Given the description of an element on the screen output the (x, y) to click on. 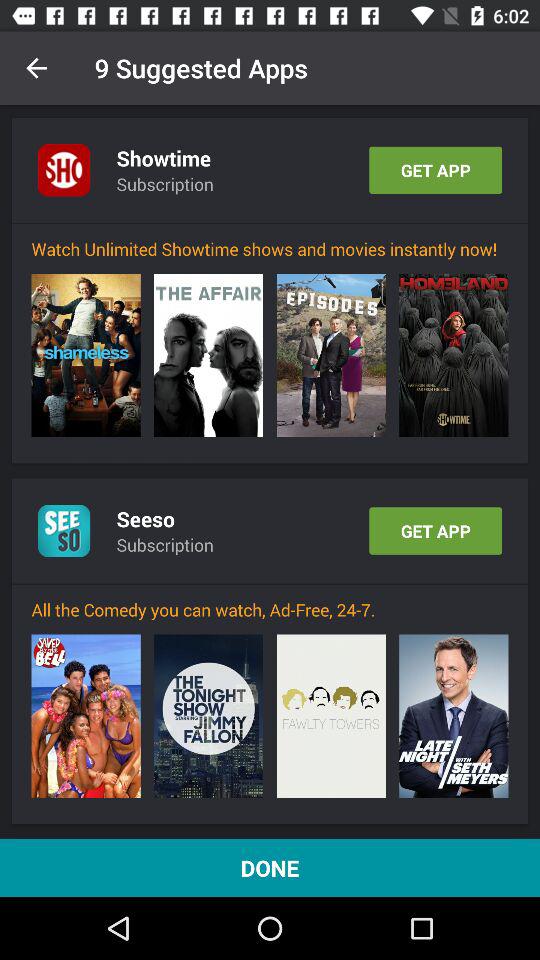
open all the comedy item (269, 609)
